Given the description of an element on the screen output the (x, y) to click on. 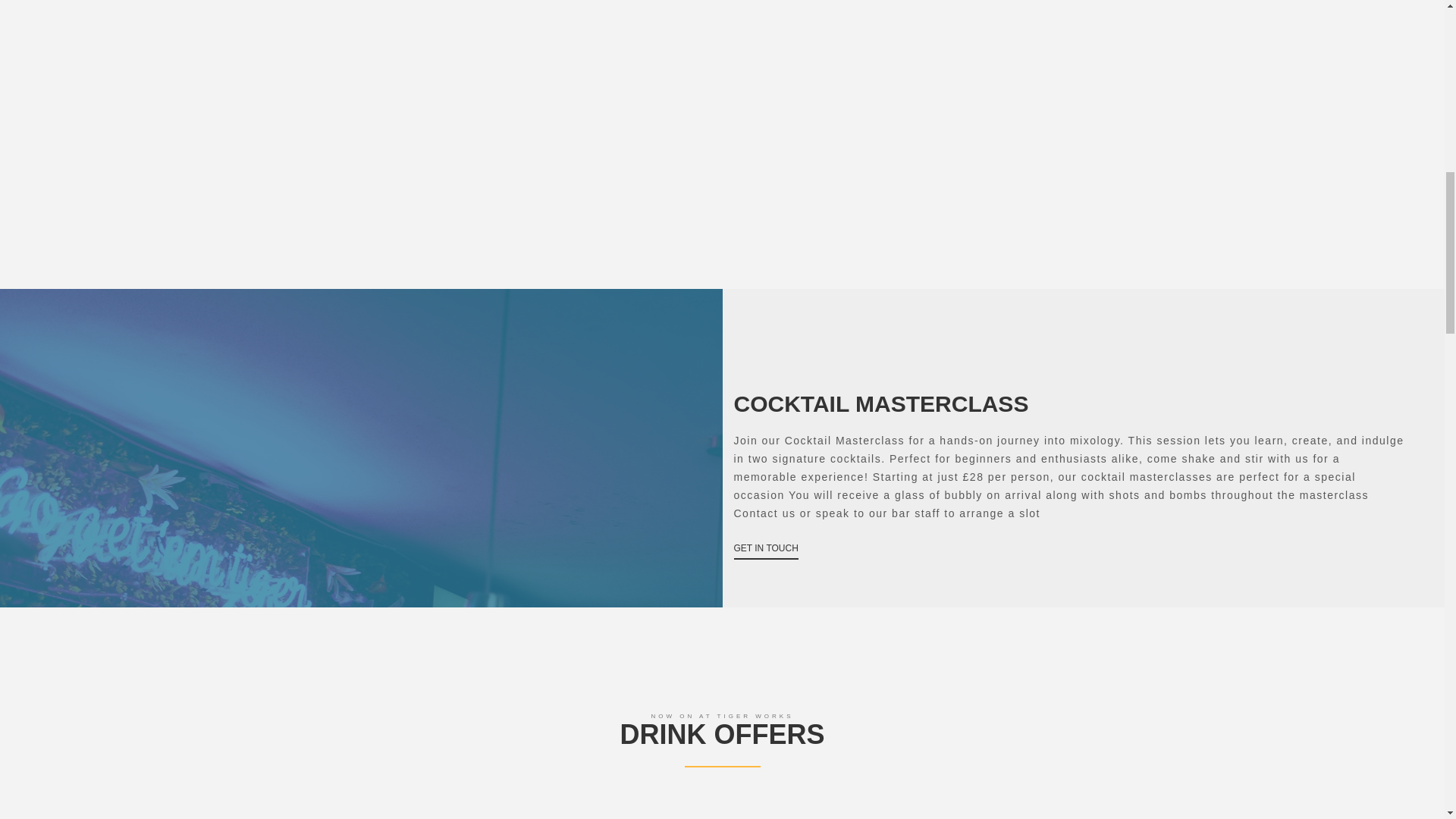
GET IN TOUCH (765, 548)
